Given the description of an element on the screen output the (x, y) to click on. 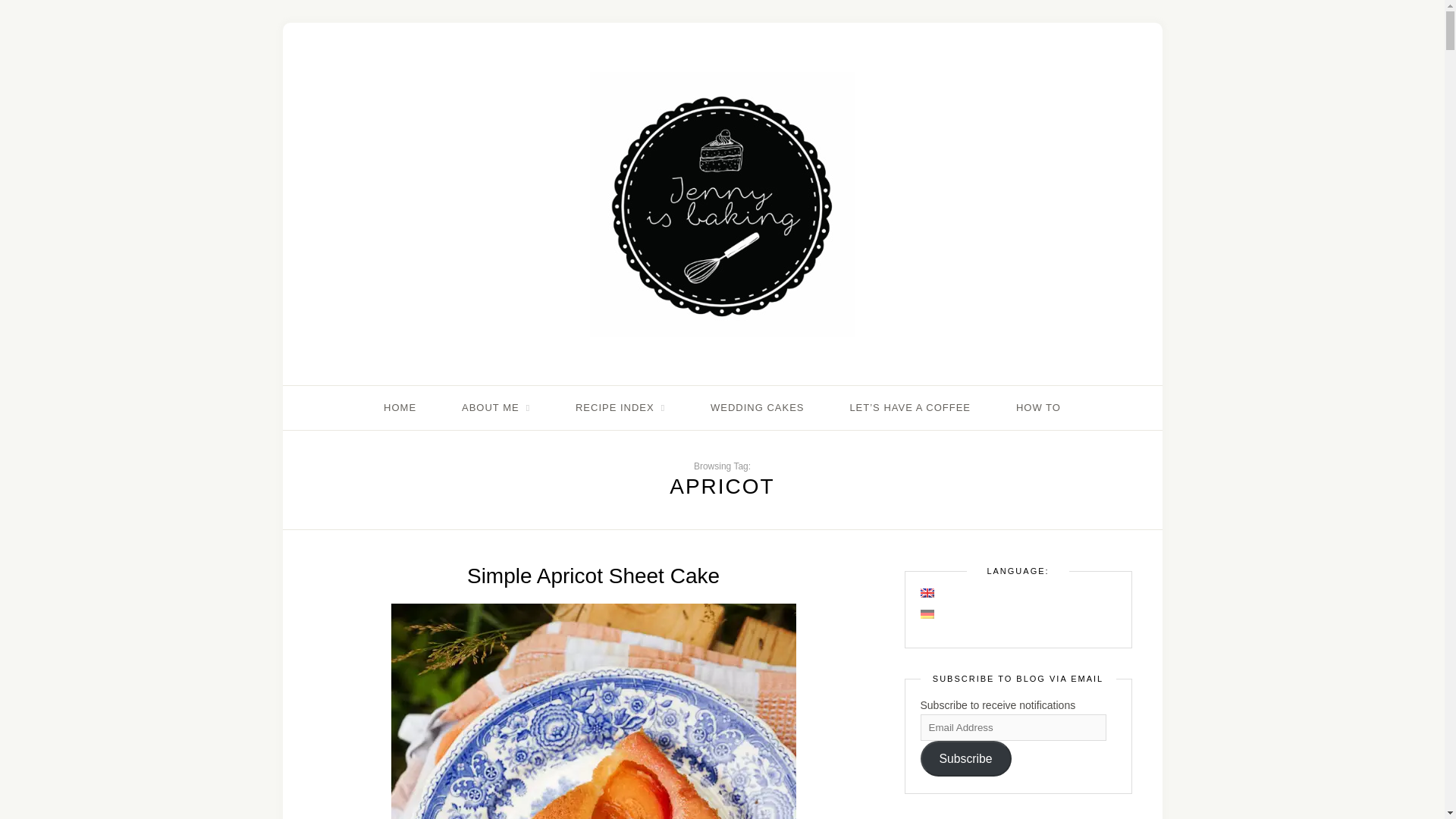
ABOUT ME (495, 407)
WEDDING CAKES (757, 407)
RECIPE INDEX (620, 407)
HOW TO (1038, 407)
Simple Apricot Sheet Cake (593, 576)
